Given the description of an element on the screen output the (x, y) to click on. 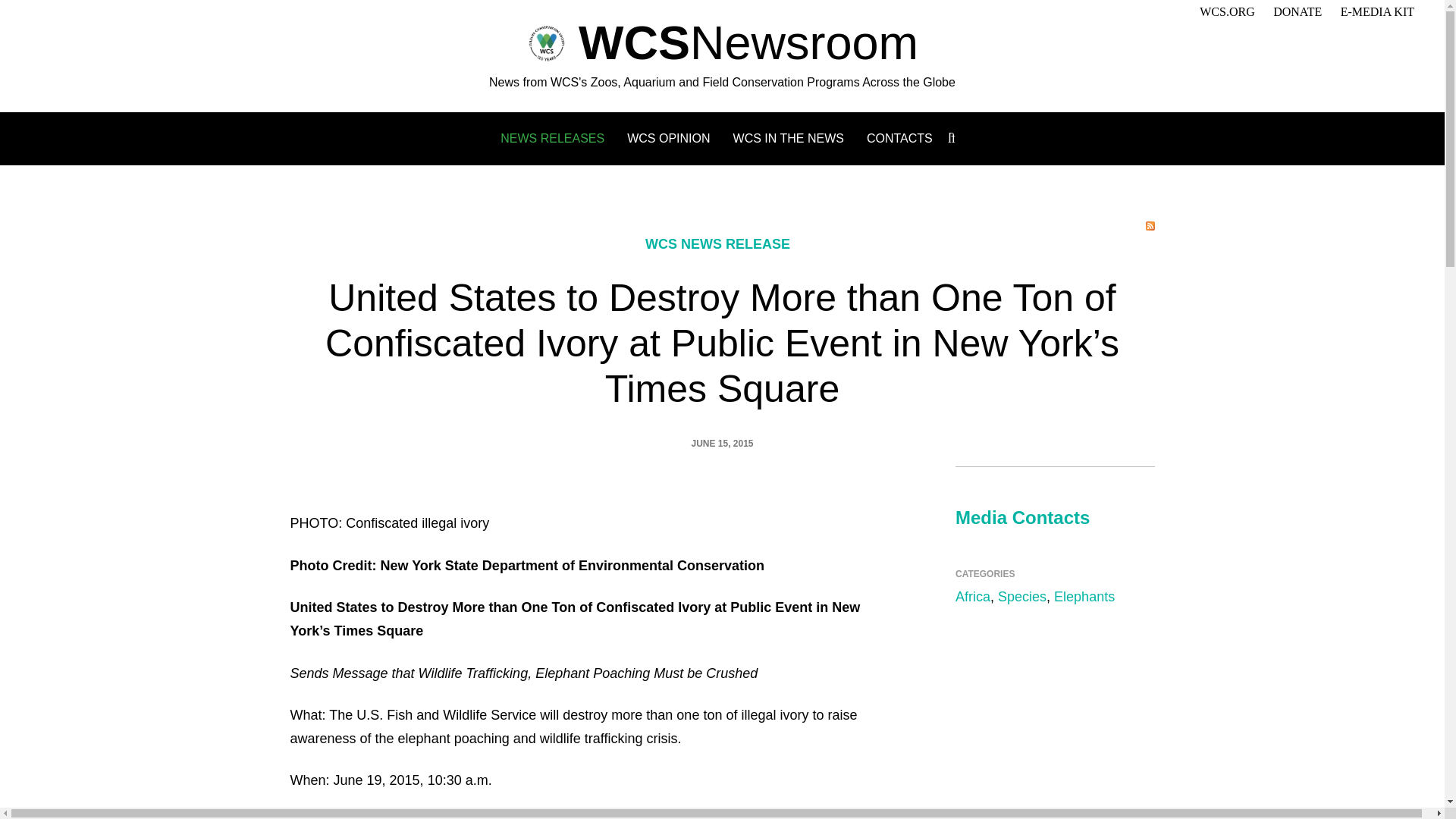
Africa (972, 596)
E-MEDIA KIT (1376, 11)
DONATE (1297, 11)
Elephants (1084, 596)
WCS.ORG (1226, 11)
NEWS RELEASES (552, 138)
Species (1021, 596)
WCS IN THE NEWS (788, 138)
WCS NEWS RELEASE (717, 243)
